Given the description of an element on the screen output the (x, y) to click on. 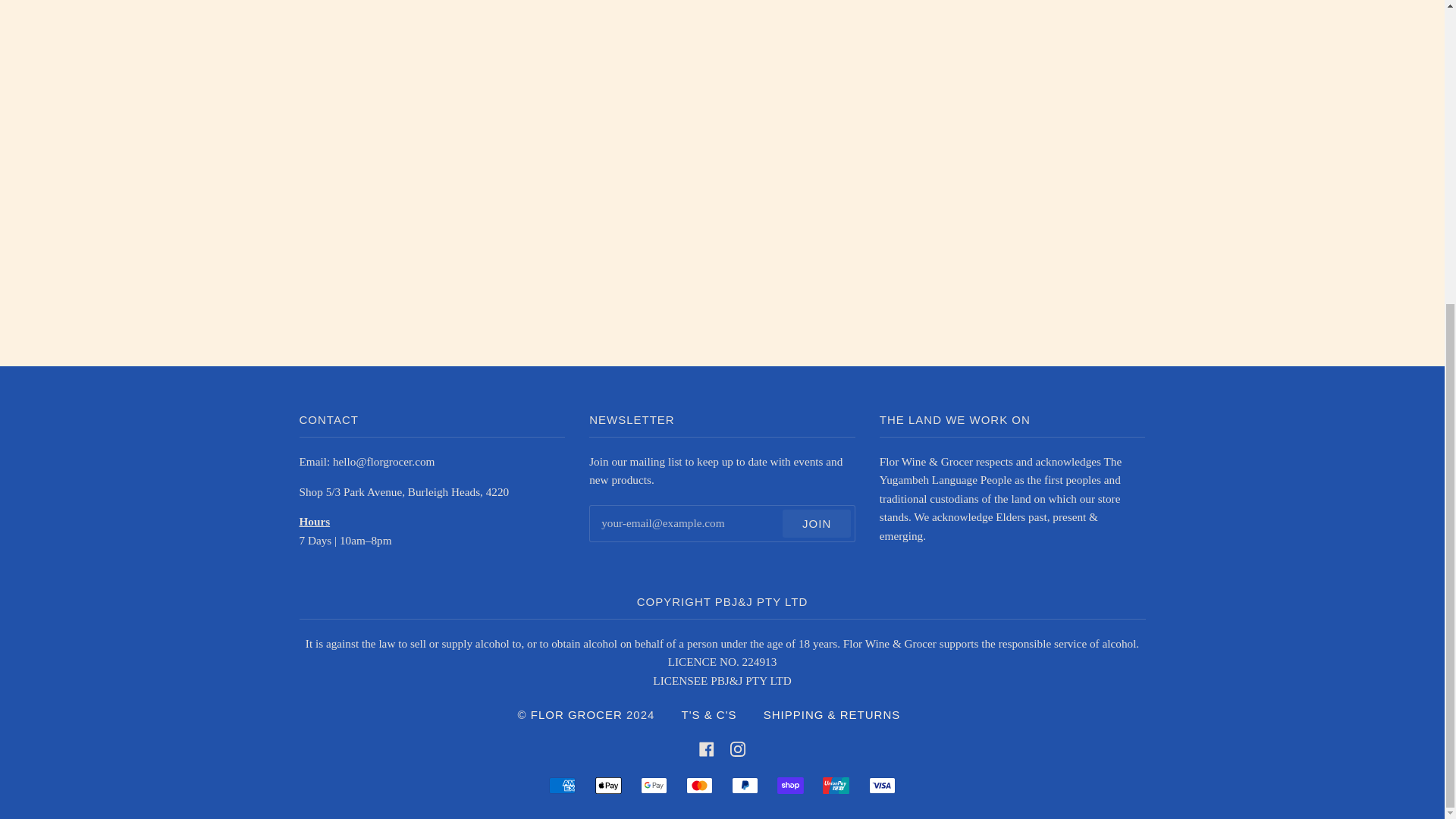
APPLE PAY (608, 785)
GOOGLE PAY (653, 785)
Facebook (706, 748)
MASTERCARD (699, 785)
UNION PAY (835, 785)
SHOP PAY (790, 785)
PAYPAL (745, 785)
VISA (882, 785)
AMERICAN EXPRESS (561, 785)
Instagram (737, 748)
